Given the description of an element on the screen output the (x, y) to click on. 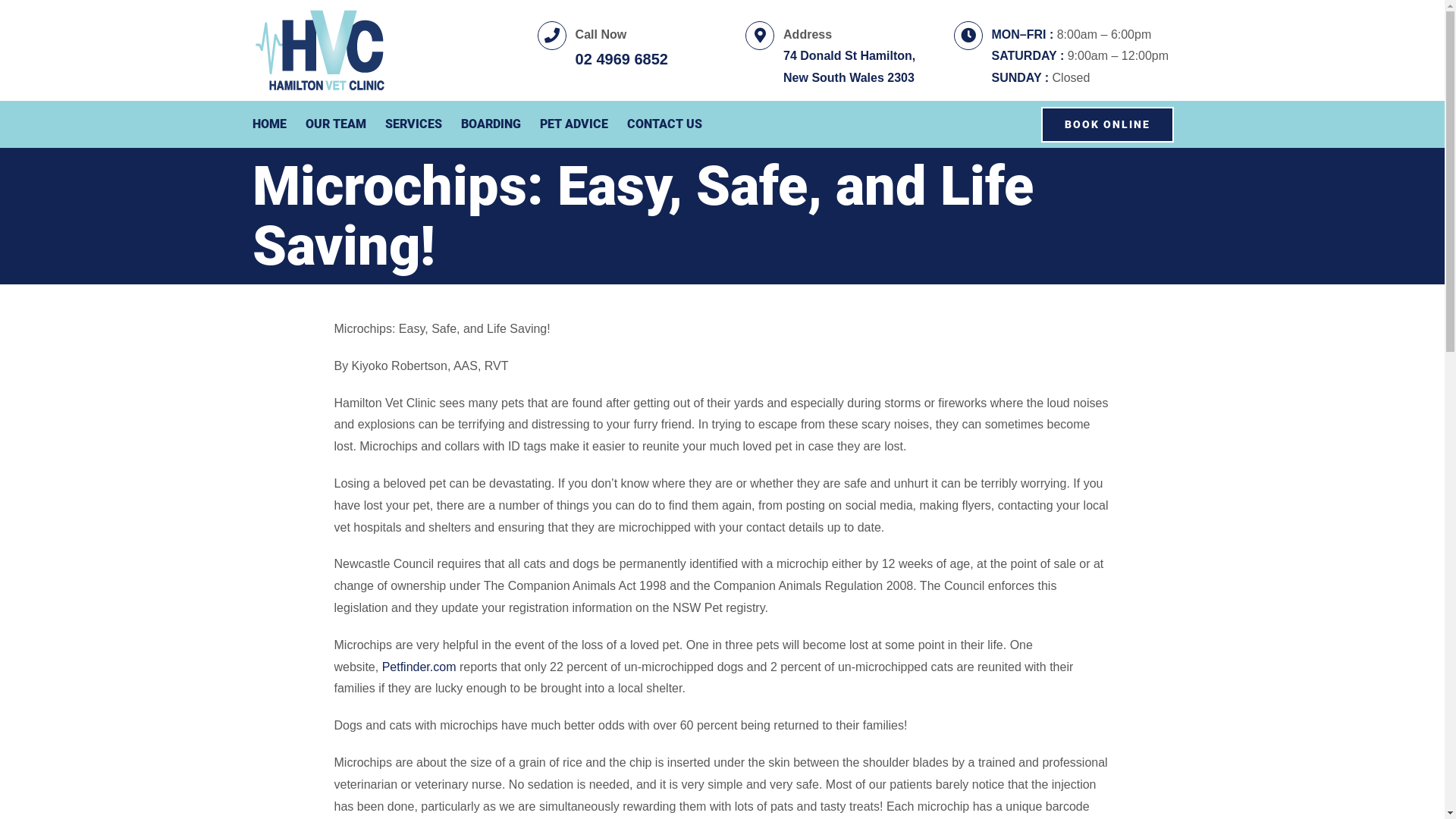
BOOK ONLINE Element type: text (1106, 124)
02 4969 6852 Element type: text (621, 58)
SERVICES Element type: text (413, 124)
Petfinder.com Element type: text (419, 666)
PET ADVICE Element type: text (573, 124)
BOARDING Element type: text (490, 124)
HOME Element type: text (268, 124)
CONTACT US Element type: text (663, 124)
74 Donald St Hamilton,
New South Wales 2303 Element type: text (849, 67)
OUR TEAM Element type: text (334, 124)
